Given the description of an element on the screen output the (x, y) to click on. 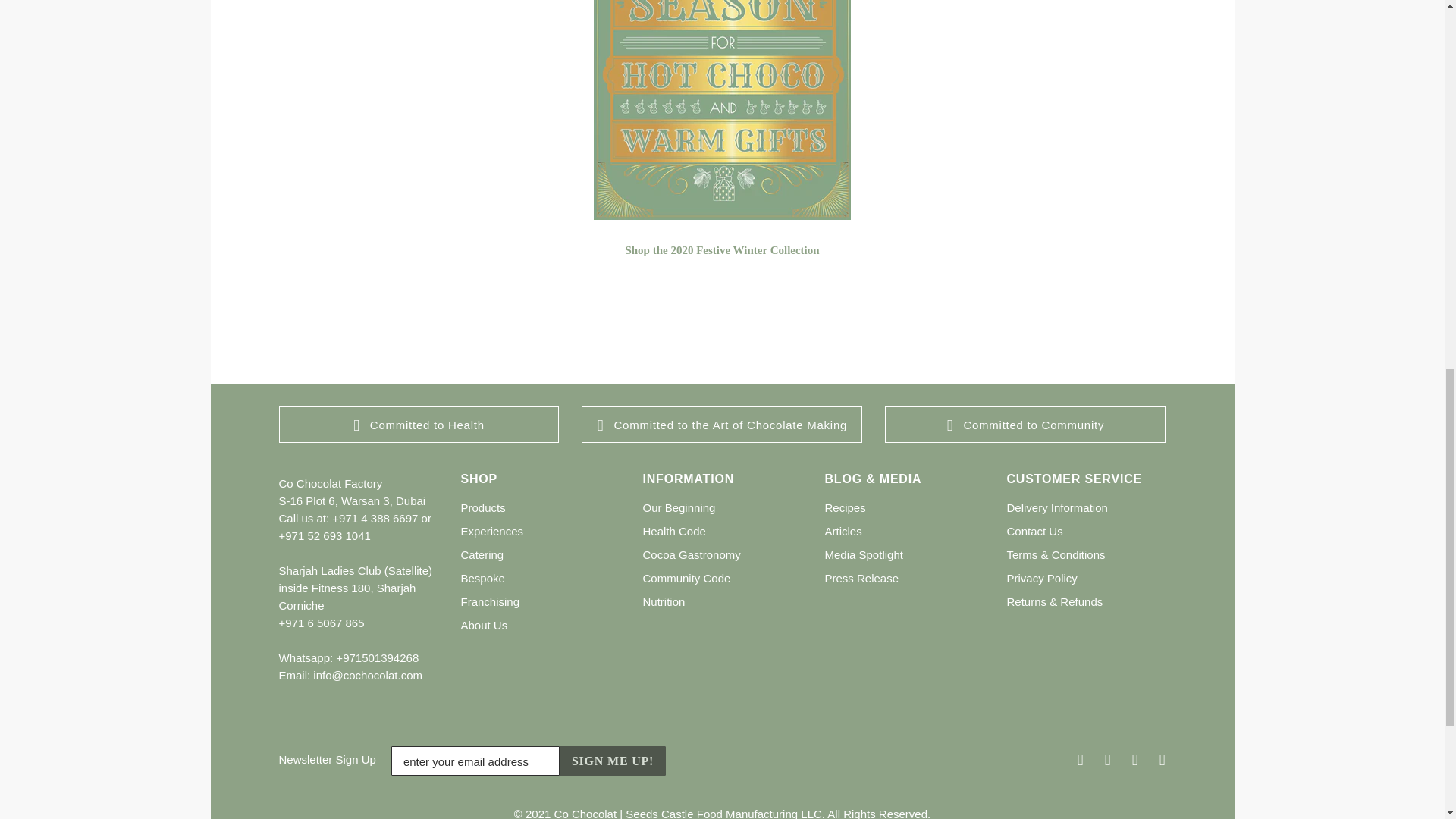
Sign me up! (612, 760)
